Given the description of an element on the screen output the (x, y) to click on. 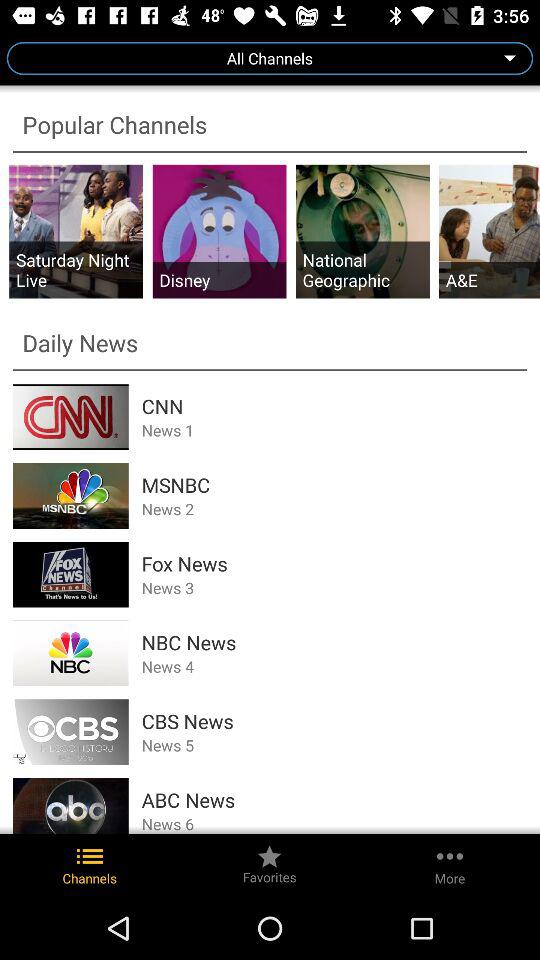
flip to the news 1 icon (333, 429)
